Given the description of an element on the screen output the (x, y) to click on. 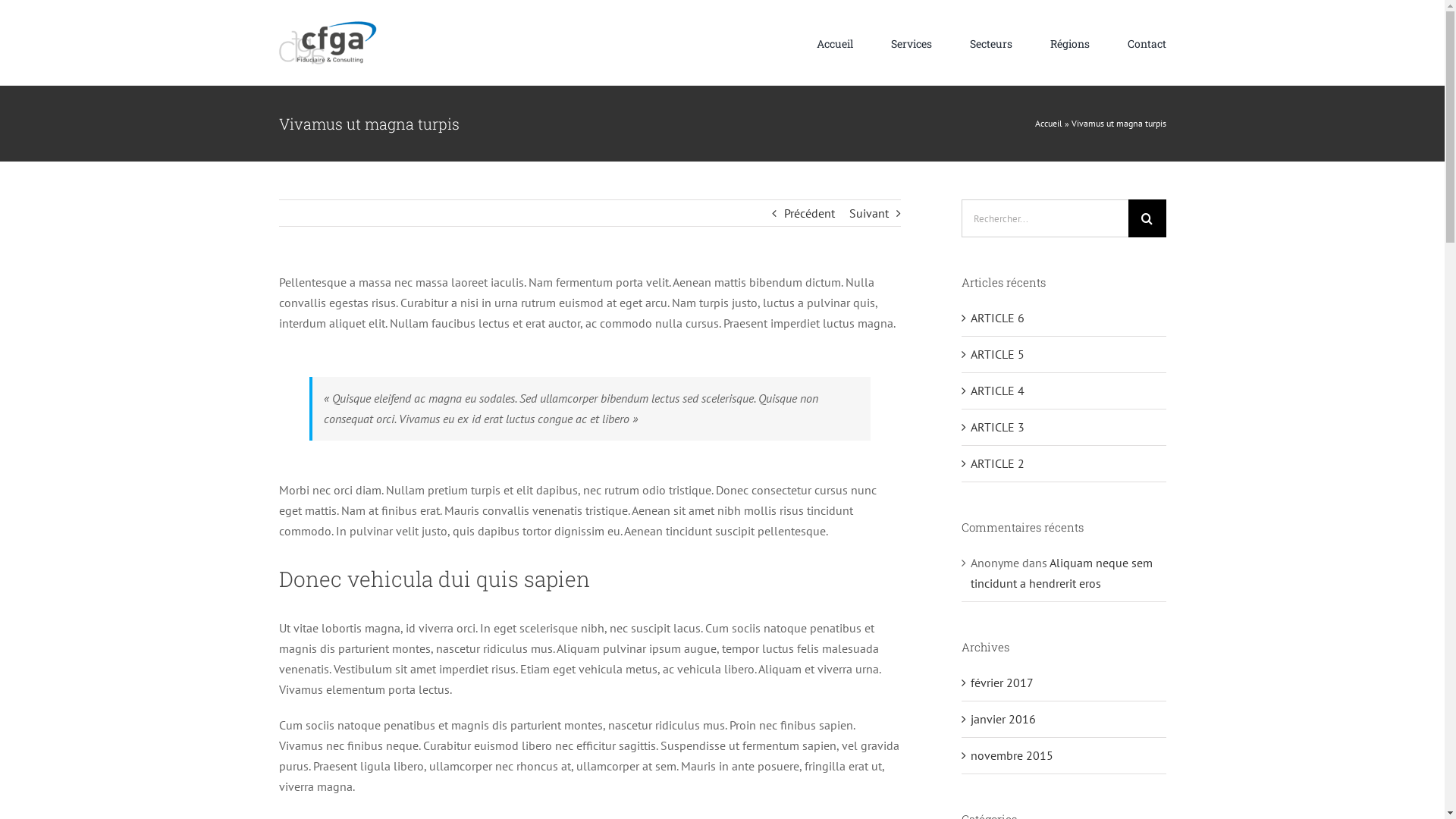
ARTICLE 3 Element type: text (997, 426)
ARTICLE 2 Element type: text (997, 462)
ARTICLE 5 Element type: text (997, 353)
Contact Element type: text (1146, 42)
Accueil Element type: text (1047, 122)
ARTICLE 6 Element type: text (997, 317)
novembre 2015 Element type: text (1011, 754)
Services Element type: text (911, 42)
Suivant Element type: text (868, 212)
ARTICLE 4 Element type: text (997, 390)
Accueil Element type: text (834, 42)
Aliquam neque sem tincidunt a hendrerit eros Element type: text (1061, 572)
janvier 2016 Element type: text (1002, 718)
Secteurs Element type: text (990, 42)
